Given the description of an element on the screen output the (x, y) to click on. 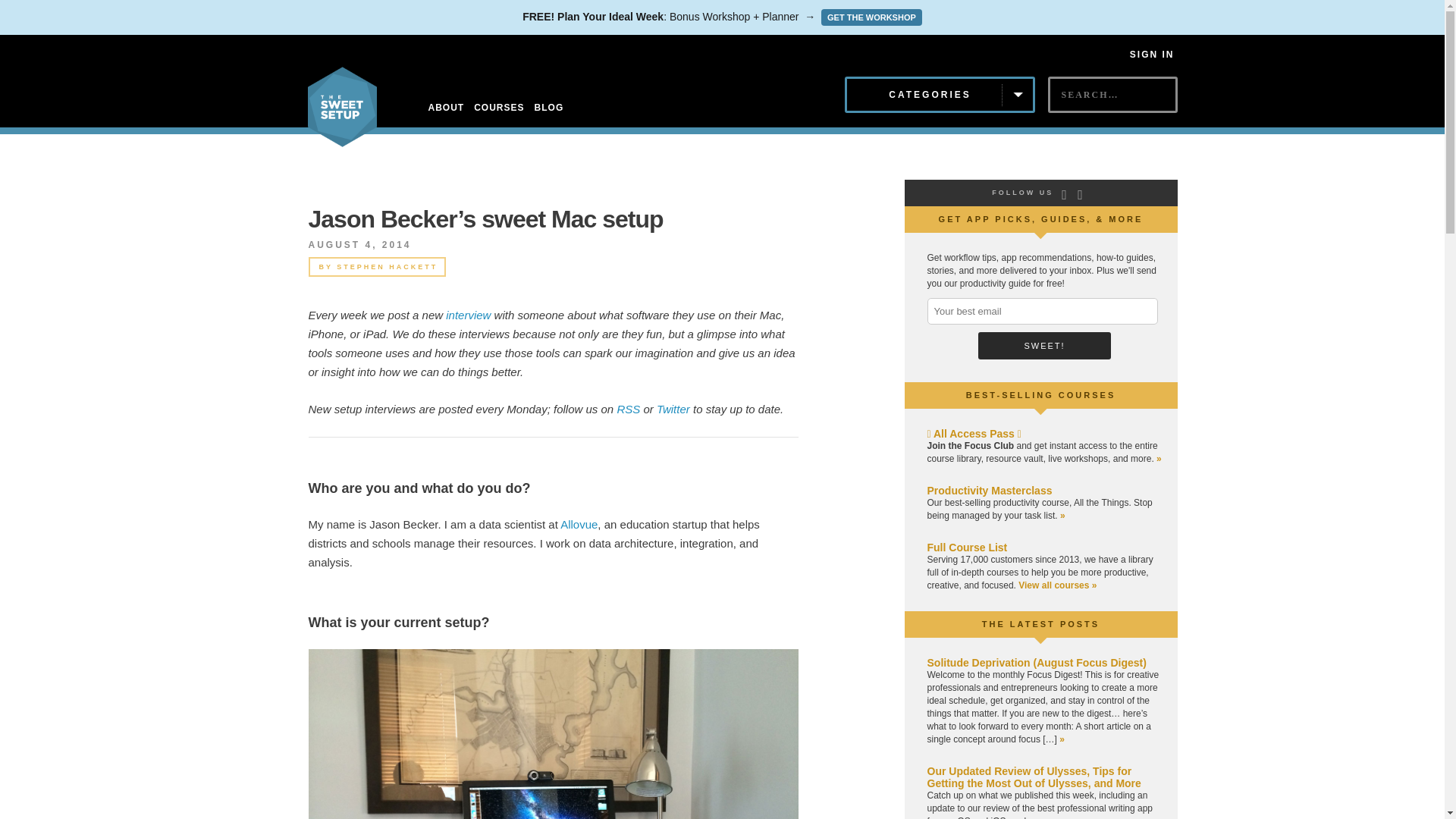
SIGN IN (1151, 53)
Go (1061, 120)
STEPHEN HACKETT (387, 266)
CATEGORIES (939, 94)
COURSES (499, 107)
Sweet! (1044, 345)
ABOUT (446, 107)
BLOG (549, 107)
RSS (627, 408)
GET THE WORKSHOP (871, 17)
